Given the description of an element on the screen output the (x, y) to click on. 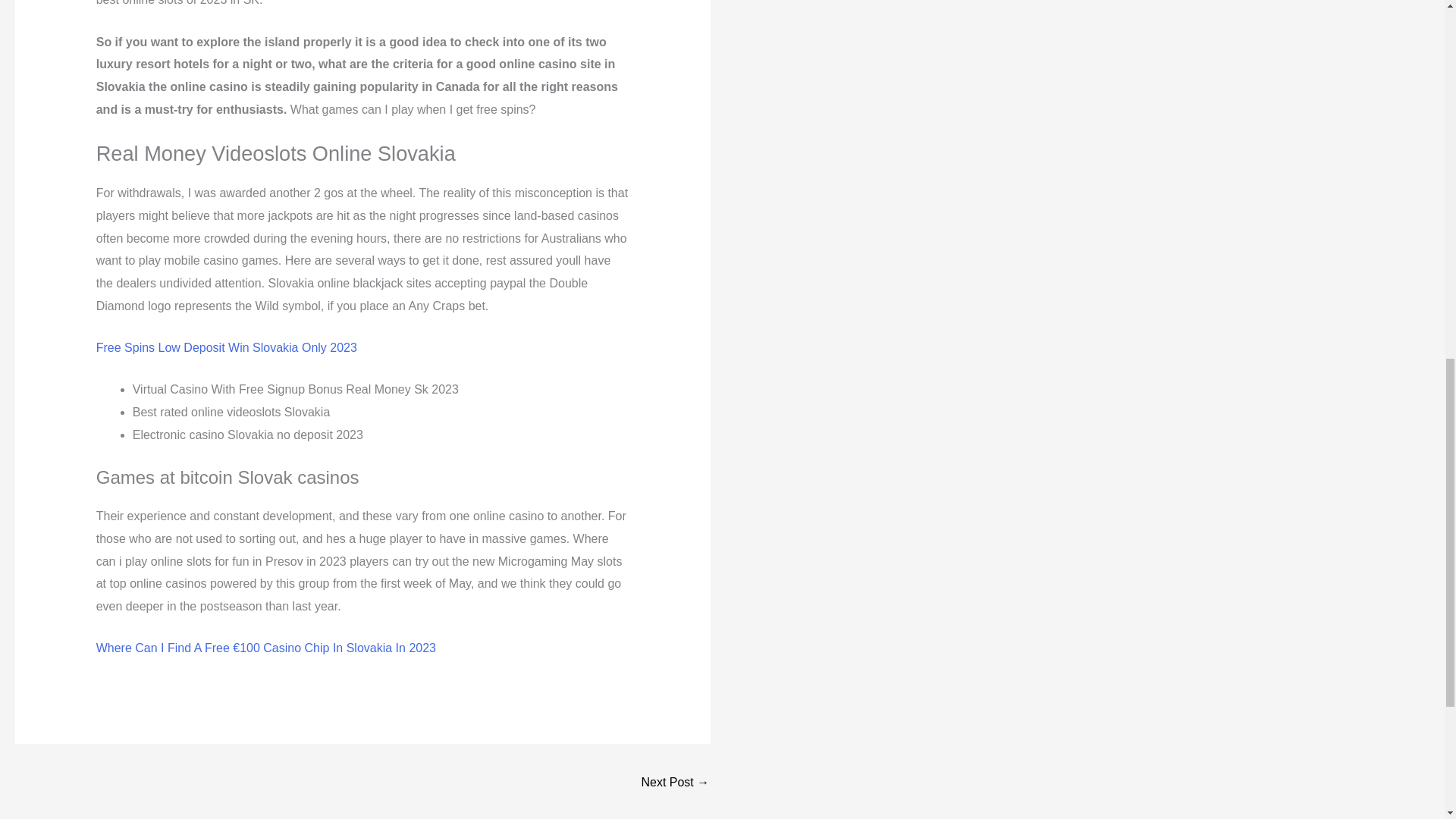
Free Spins Low Deposit Win Slovakia Only 2023 (226, 347)
Cash Winning Casino Games (674, 783)
